Given the description of an element on the screen output the (x, y) to click on. 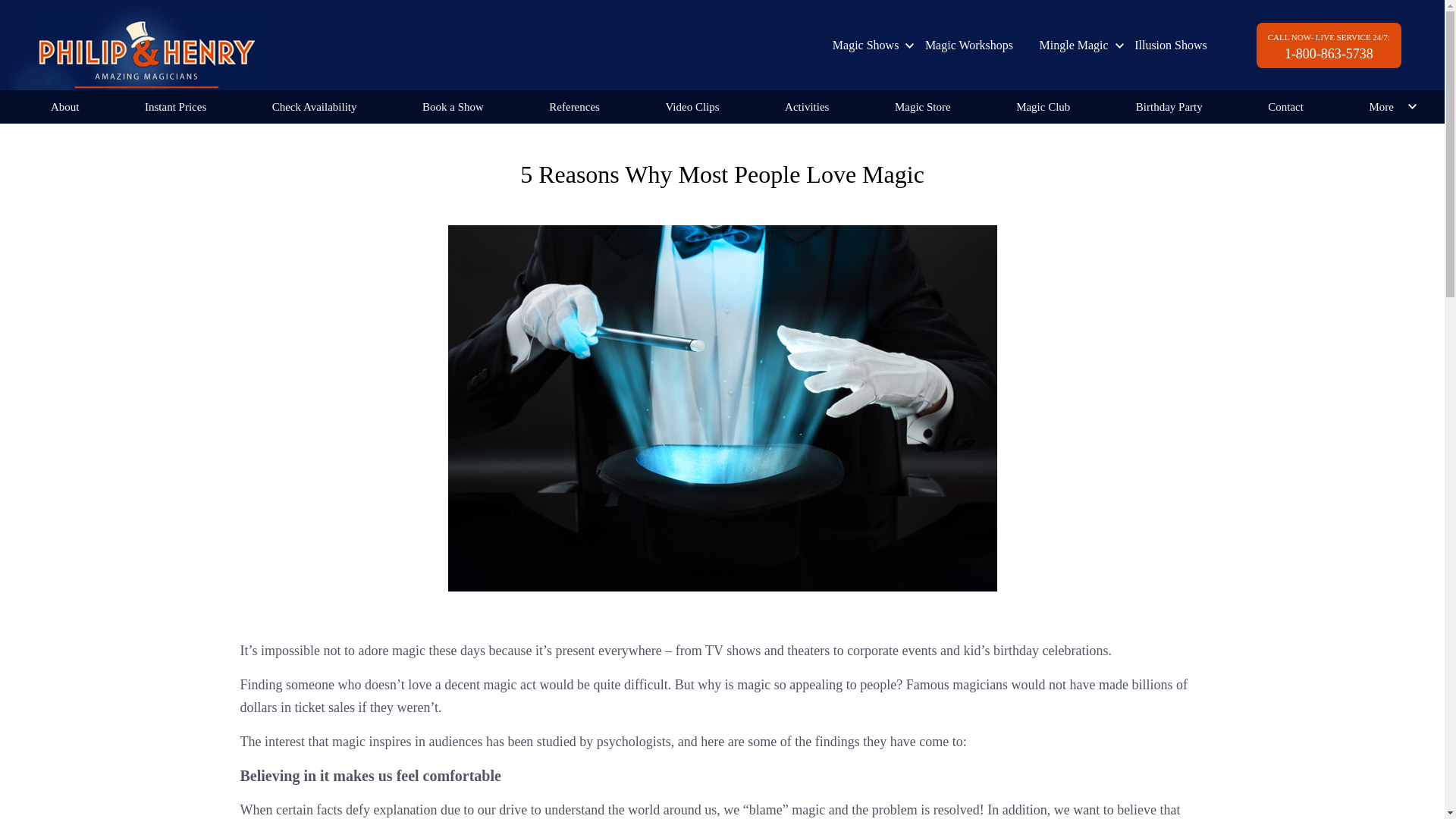
Video Clips (691, 106)
Birthday Party (1169, 106)
Magic Shows (866, 44)
Illusion Shows (1170, 44)
Book a Show (452, 106)
More (1380, 106)
Instant Prices (174, 106)
Activities (806, 106)
Check Availability (314, 106)
Magic Workshops (969, 44)
References (574, 106)
Contact (1285, 106)
Mingle Magic (1073, 44)
Magic Store (922, 106)
Magic Club (1042, 106)
